Given the description of an element on the screen output the (x, y) to click on. 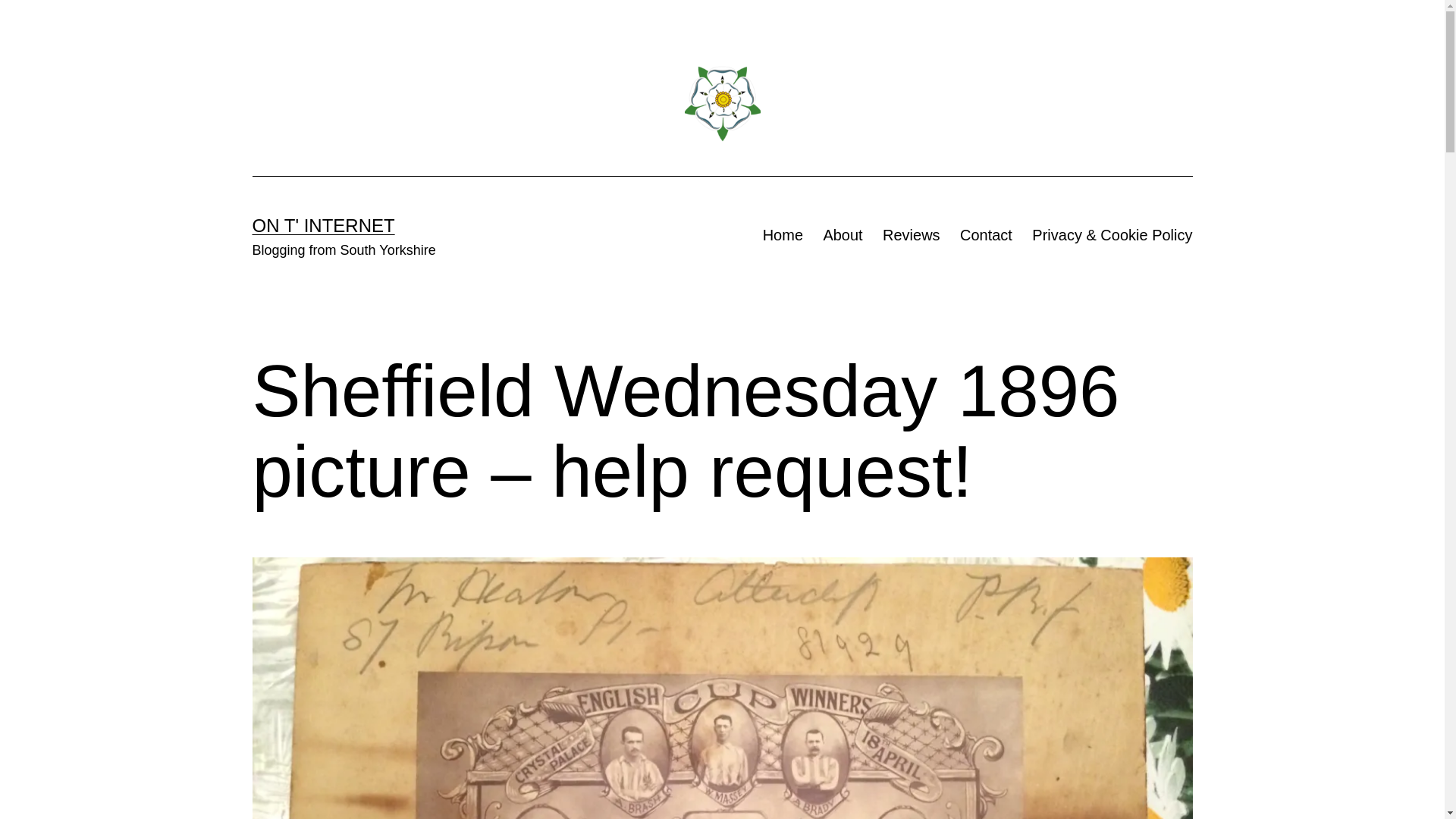
Reviews (911, 235)
Home (782, 235)
Contact (986, 235)
About (842, 235)
ON T' INTERNET (322, 225)
